Given the description of an element on the screen output the (x, y) to click on. 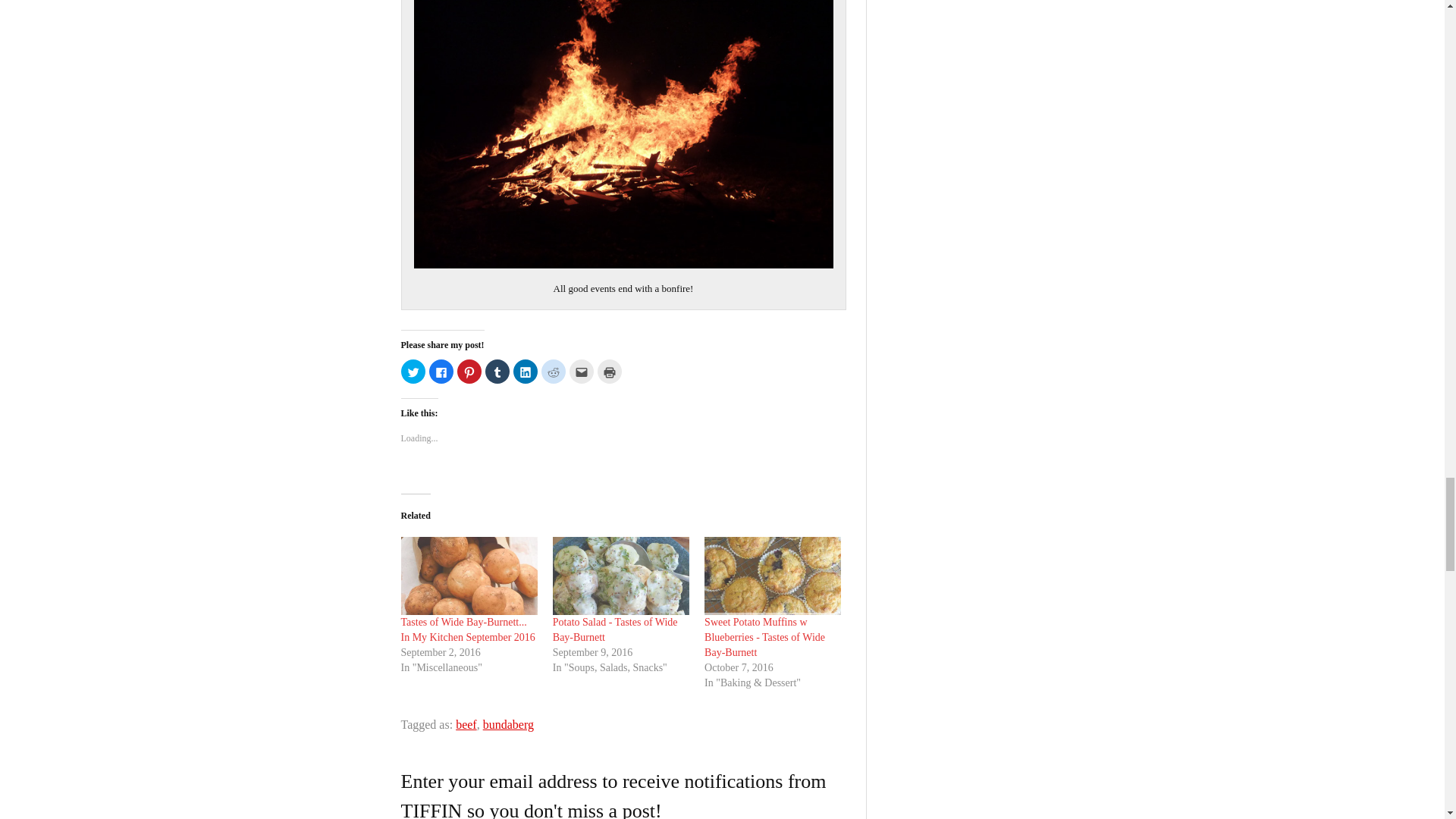
Click to print (608, 371)
Click to share on Twitter (412, 371)
Potato Salad - Tastes of Wide Bay-Burnett (615, 629)
Tastes of Wide Bay-Burnett... In My Kitchen September 2016 (467, 629)
Click to email this to a friend (580, 371)
Click to share on Pinterest (468, 371)
beef (466, 724)
Click to share on Facebook (440, 371)
Click to share on Reddit (553, 371)
bundaberg (508, 724)
Click to share on Tumblr (496, 371)
Click to share on LinkedIn (524, 371)
